Given the description of an element on the screen output the (x, y) to click on. 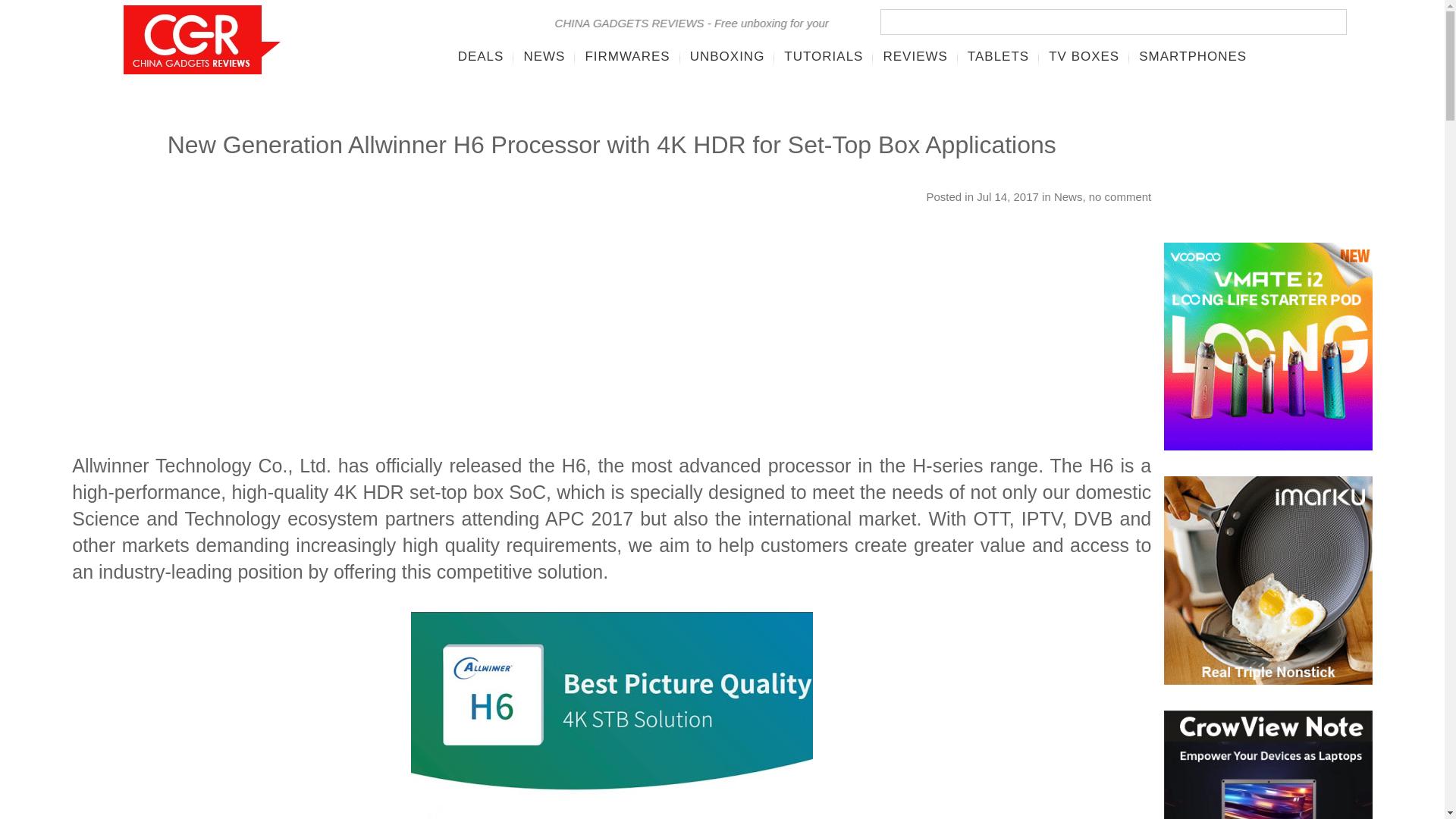
FIRMWARES (627, 56)
DEALS (480, 56)
TV BOXES (1084, 56)
NEWS (544, 56)
UNBOXING (726, 56)
REVIEWS (914, 56)
TABLETS (998, 56)
TUTORIALS (823, 56)
News (1068, 196)
